Given the description of an element on the screen output the (x, y) to click on. 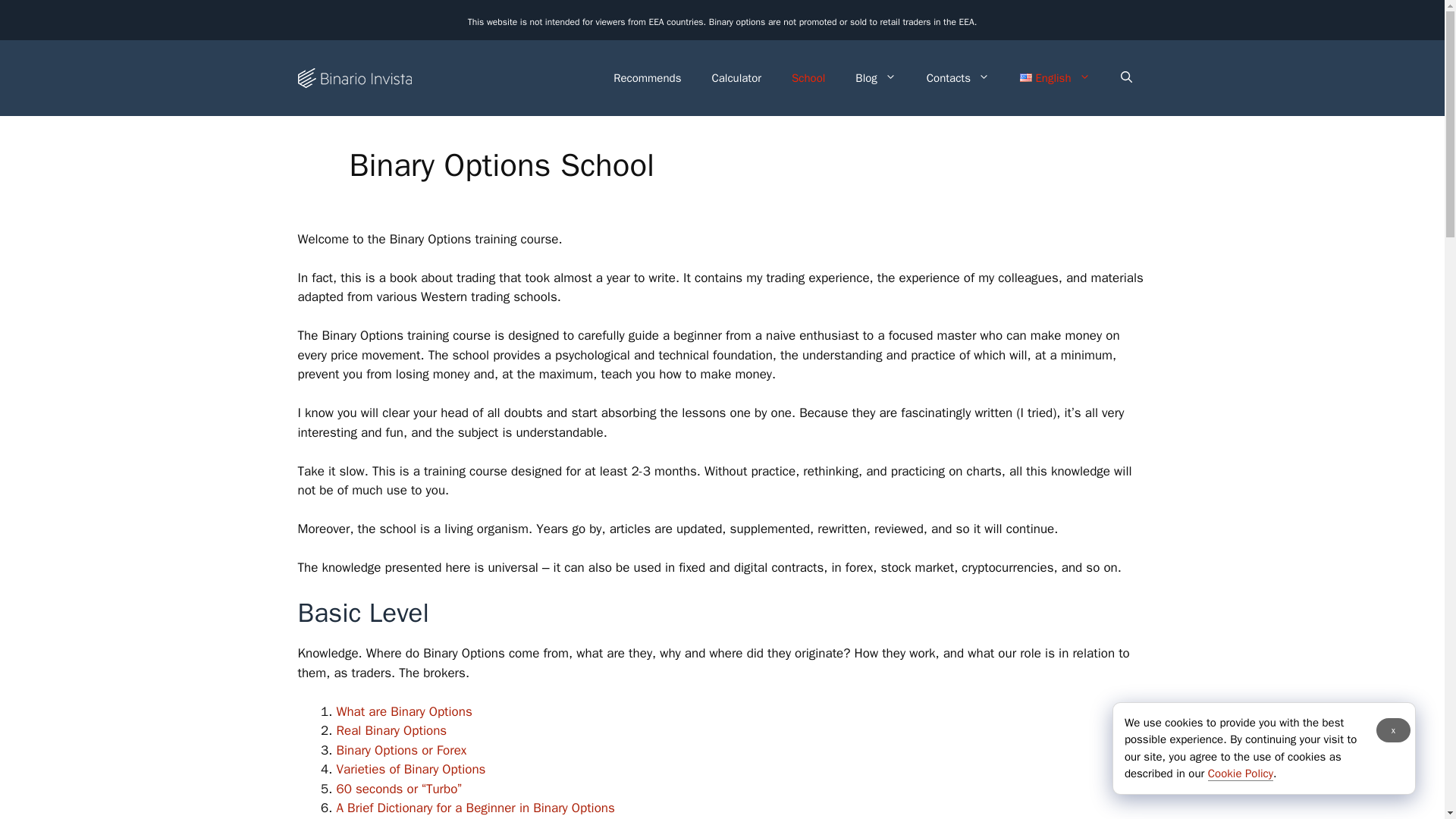
Contacts (957, 76)
Calculator (735, 76)
Varieties of Binary Options (411, 769)
Real Binary Options (391, 730)
A Brief Dictionary for a Beginner in Binary Options (475, 807)
Recommends (646, 76)
School (808, 76)
What are Binary Options (403, 711)
English (1054, 76)
Binary Options or Forex (401, 750)
